Given the description of an element on the screen output the (x, y) to click on. 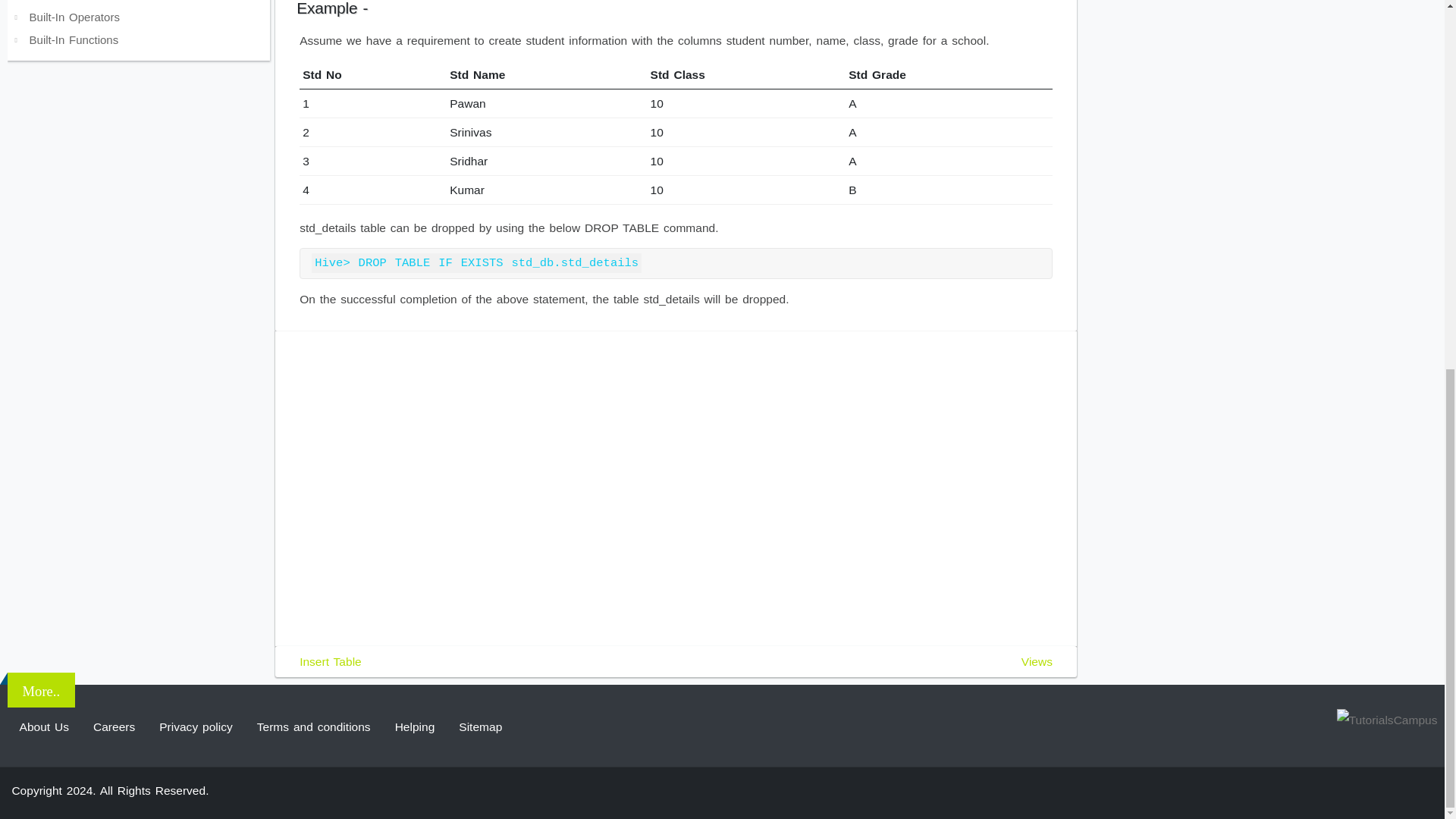
Instagram (1337, 789)
Linkedin (1388, 789)
Built-In Operators (138, 15)
About Us (44, 726)
Views (1037, 661)
Pinterest (1363, 789)
Describe (138, 2)
Twitter (1310, 789)
Facebook (1283, 789)
Built-In Functions (138, 37)
Insert Table (330, 661)
